Given the description of an element on the screen output the (x, y) to click on. 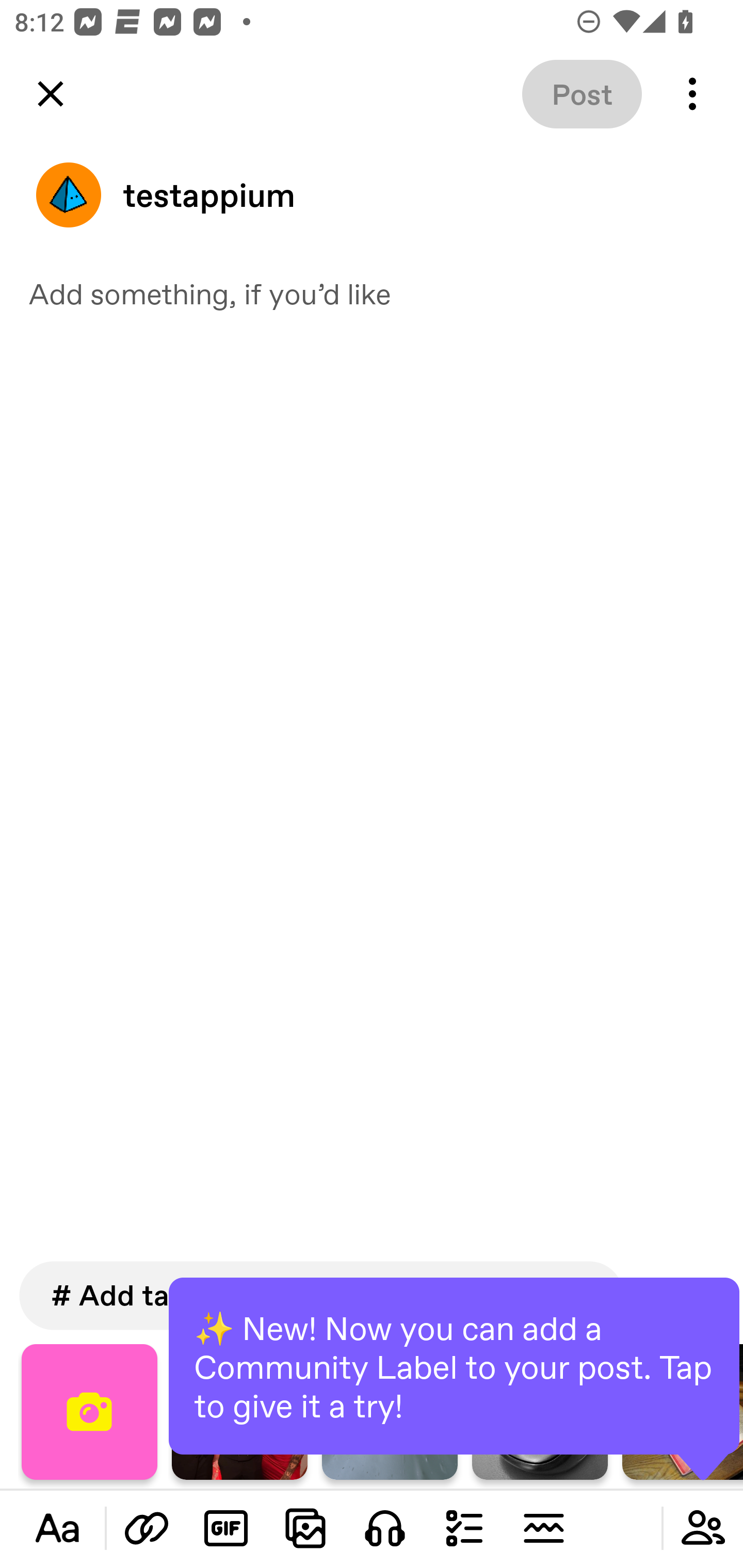
Navigate up (50, 93)
Post (581, 93)
Blog Selector testappium (371, 195)
Add something, if you’d like (371, 293)
Add text to post (57, 1528)
Add text to post (146, 1528)
Add GIF to post (225, 1528)
Add Photo to post (305, 1528)
Add Audio to post (384, 1528)
Add Poll to post (463, 1528)
Add read-more link to post (543, 1528)
Add community label for post (703, 1528)
